Given the description of an element on the screen output the (x, y) to click on. 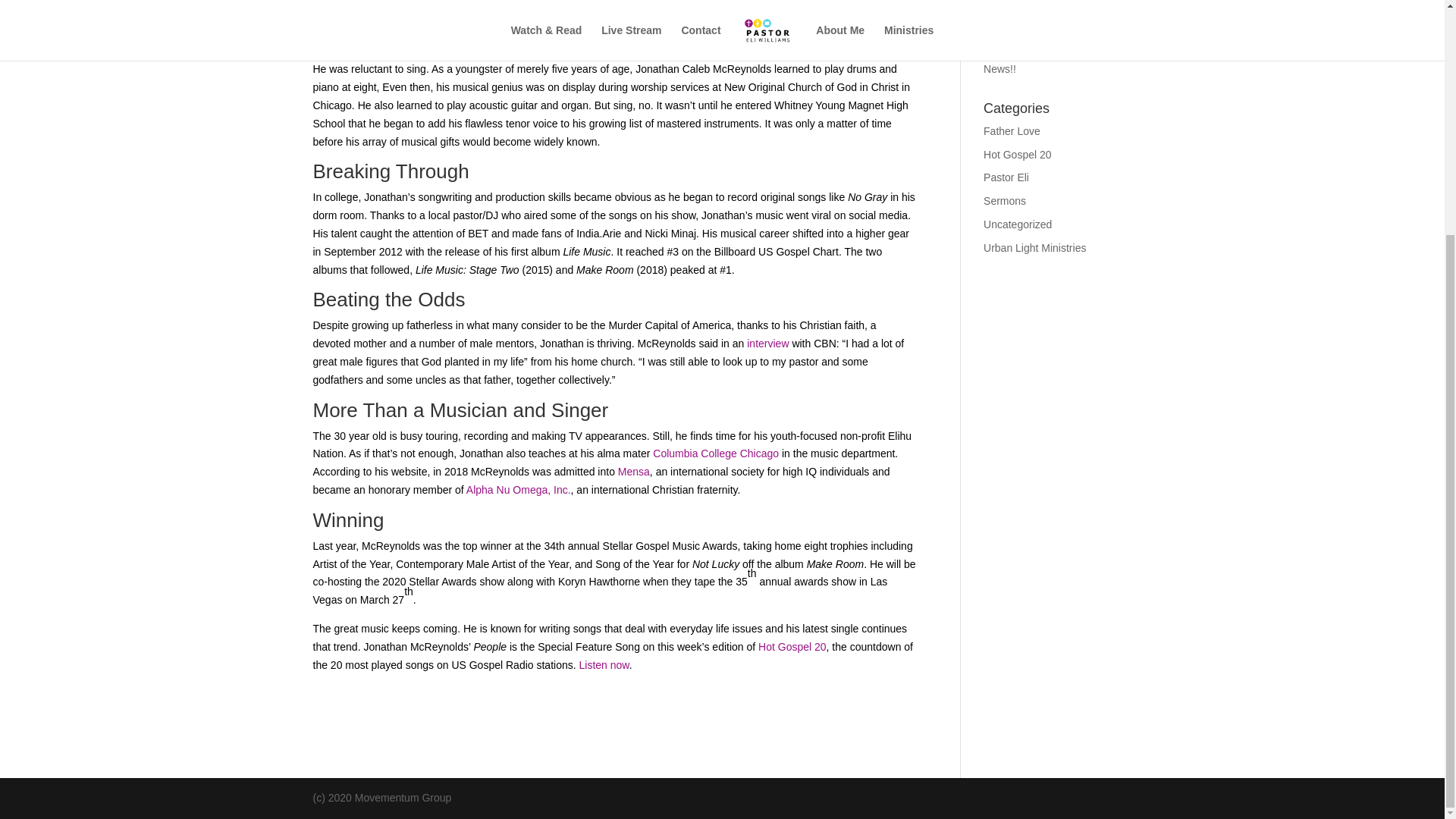
Columbia College Chicago (715, 453)
Father Love (1012, 131)
Listen now (603, 664)
interview (769, 343)
Pastor Eli (1006, 177)
Sermons (1005, 200)
Uncategorized (1017, 224)
On the Rebound with Exciting News!! (1053, 60)
Hot Gospel 20 (1017, 154)
Urban Light Ministries (1035, 247)
Mensa (633, 471)
Alpha Nu Omega, Inc. (517, 490)
Hot Gospel 20 (792, 646)
